Given the description of an element on the screen output the (x, y) to click on. 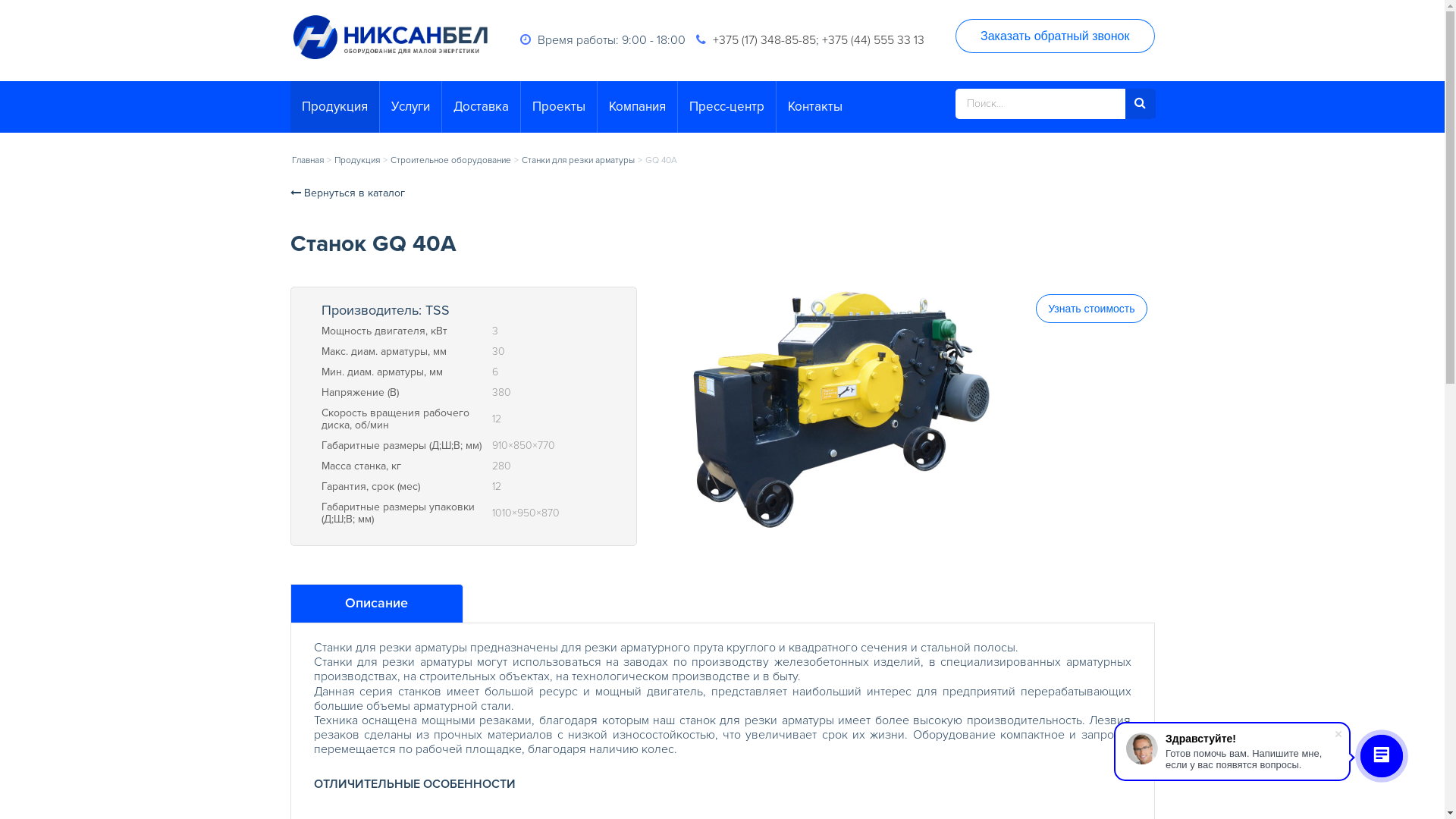
+375 (17) 348-85-85 Element type: text (763, 39)
+375 (44) 555 33 13 Element type: text (873, 39)
